Given the description of an element on the screen output the (x, y) to click on. 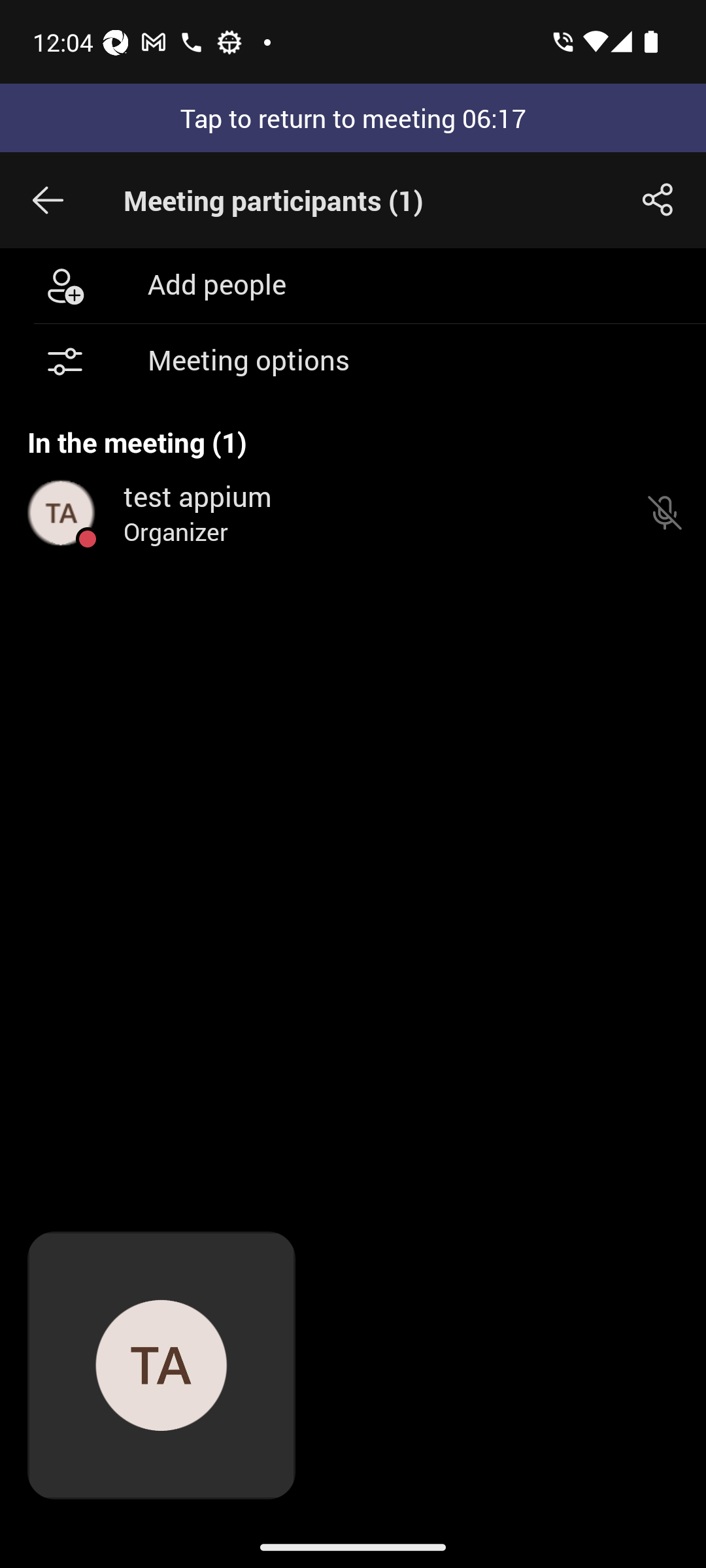
Tap to return to meeting 06:17 (353, 117)
Back (48, 199)
Share meeting invite (657, 199)
Add people (353, 285)
Meeting options (353, 361)
